Given the description of an element on the screen output the (x, y) to click on. 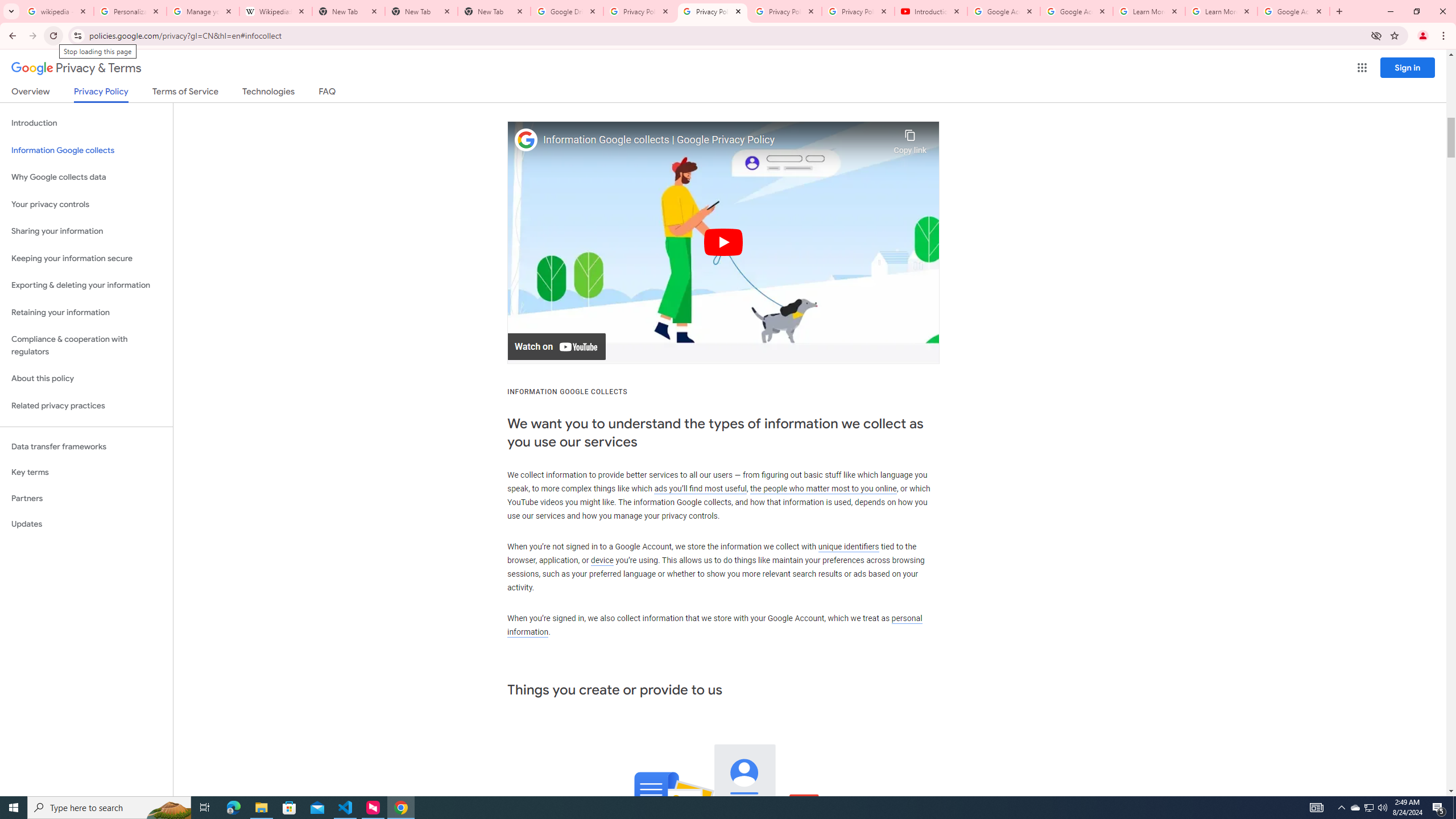
Sign in (1407, 67)
Technologies (268, 93)
Third-party cookies blocked (1376, 35)
Exporting & deleting your information (86, 284)
Wikipedia:Edit requests - Wikipedia (275, 11)
Information Google collects (86, 150)
View site information (77, 35)
Updates (86, 524)
Why Google collects data (86, 176)
Google Account Help (1076, 11)
Watch on YouTube (556, 346)
Sharing your information (86, 230)
Play (723, 242)
Google Drive: Sign-in (566, 11)
